Given the description of an element on the screen output the (x, y) to click on. 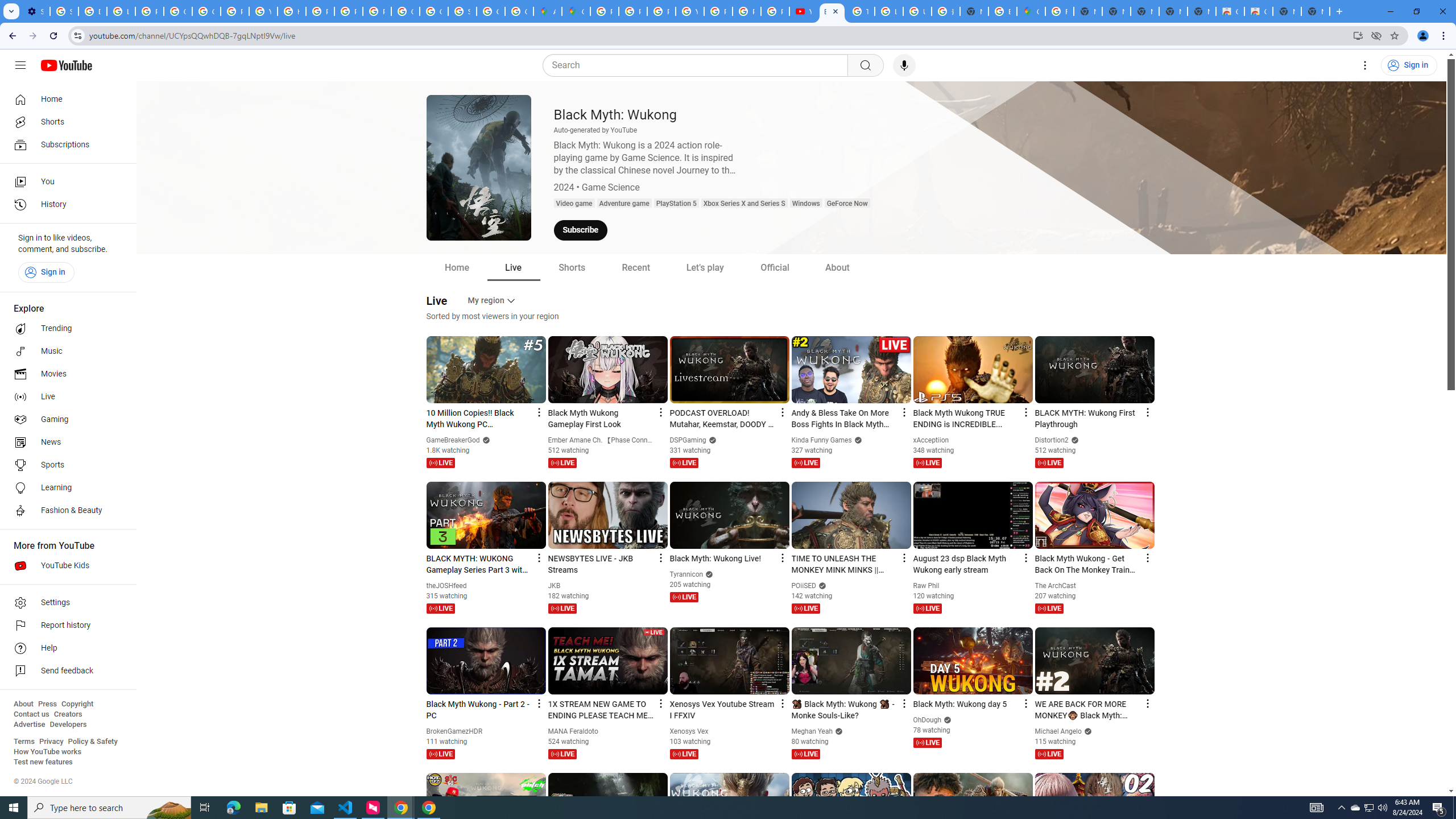
Verified (1086, 731)
YouTube (690, 11)
Advertise (29, 724)
OhDough (927, 719)
Developers (68, 724)
Privacy Help Center - Policies Help (632, 11)
YouTube (263, 11)
